Given the description of an element on the screen output the (x, y) to click on. 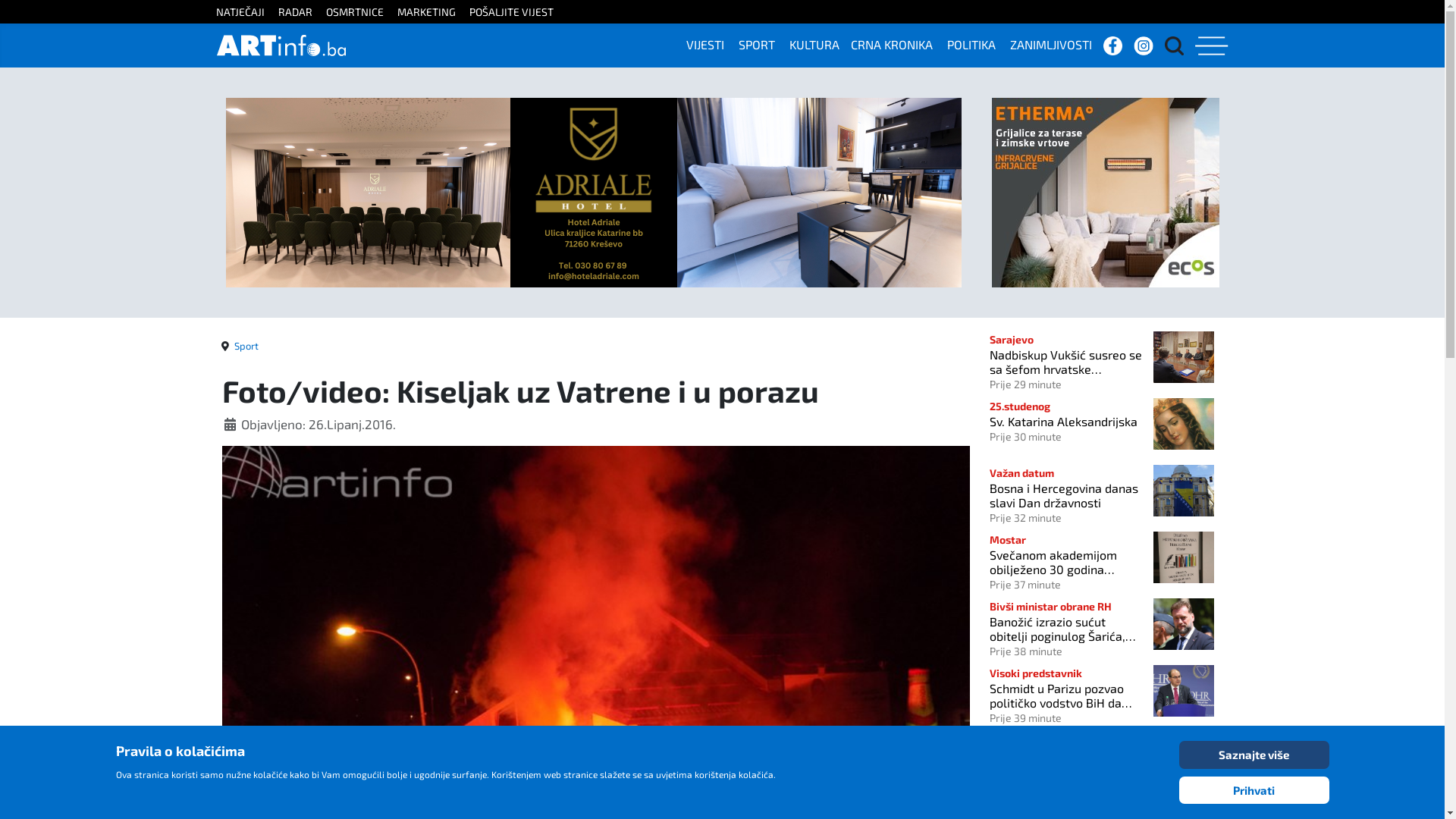
Sport Element type: text (245, 345)
MARKETING Element type: text (432, 11)
SPORT Element type: text (762, 44)
POLITIKA Element type: text (977, 44)
Adriale  Element type: hover (593, 190)
Sv. Katarina Aleksandrijska Element type: text (1066, 421)
ZANIMLJIVOSTI Element type: text (1056, 44)
CRNA KRONIKA Element type: text (897, 44)
KULTURA Element type: text (819, 44)
RADAR Element type: text (300, 11)
Prihvati Element type: text (1253, 790)
VIJESTI Element type: text (710, 44)
OSMRTNICE Element type: text (360, 11)
